Given the description of an element on the screen output the (x, y) to click on. 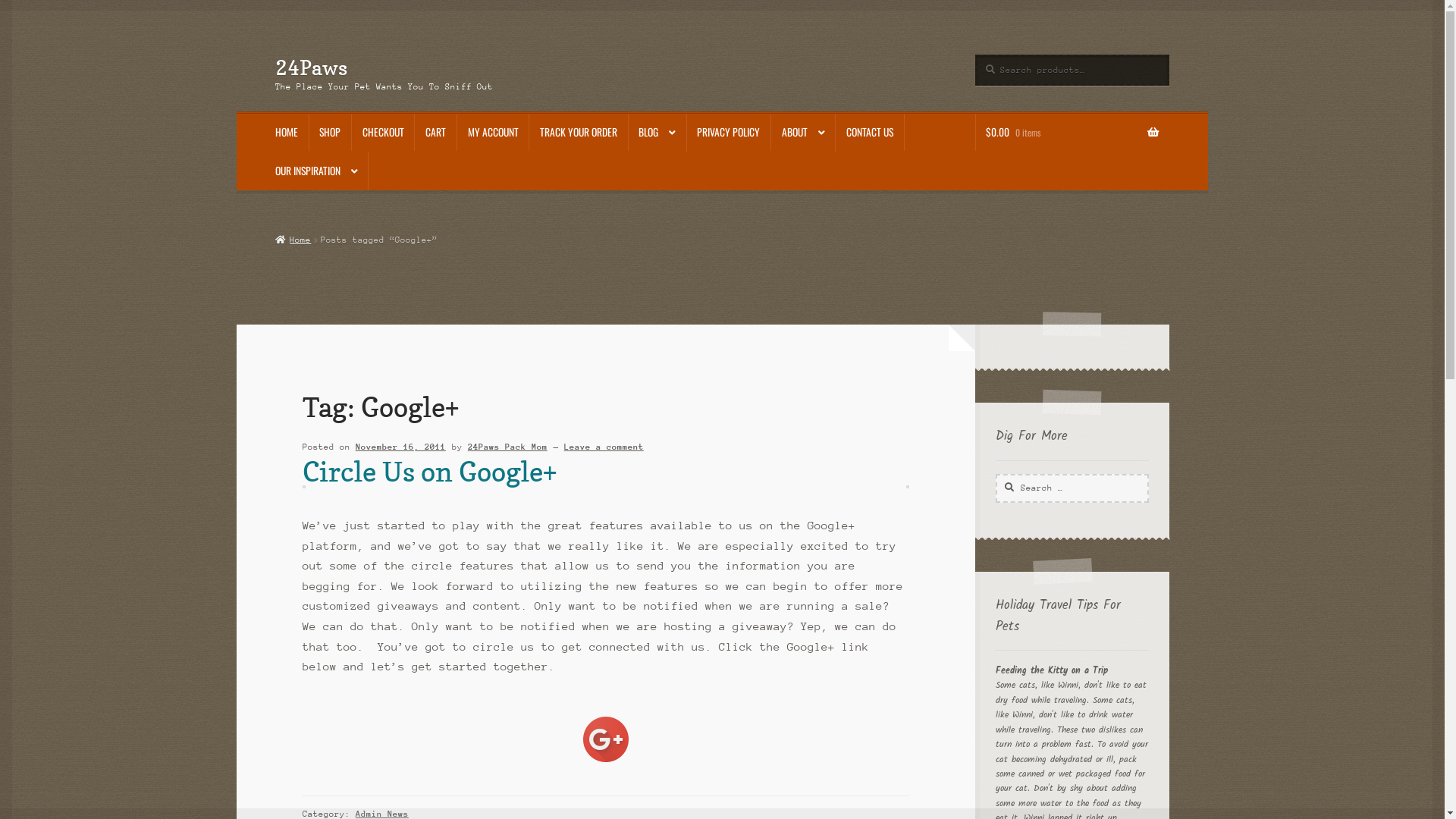
Circle Us on Google+ Element type: text (429, 471)
SHOP Element type: text (330, 132)
ABOUT Element type: text (802, 132)
PRIVACY POLICY Element type: text (728, 132)
TRACK YOUR ORDER Element type: text (578, 132)
Search Element type: text (994, 473)
November 16, 2011 Element type: text (400, 446)
CONTACT US Element type: text (869, 132)
Search Element type: text (974, 53)
HOME Element type: text (285, 132)
MY ACCOUNT Element type: text (492, 132)
CART Element type: text (434, 132)
Skip to navigation Element type: text (274, 53)
Leave a comment Element type: text (603, 446)
24Paws Pack Mom Element type: text (507, 446)
CHECKOUT Element type: text (382, 132)
OUR INSPIRATION Element type: text (315, 170)
Home Element type: text (292, 239)
24Paws Element type: text (311, 66)
BLOG Element type: text (657, 132)
$0.00 0 items Element type: text (1072, 132)
